Given the description of an element on the screen output the (x, y) to click on. 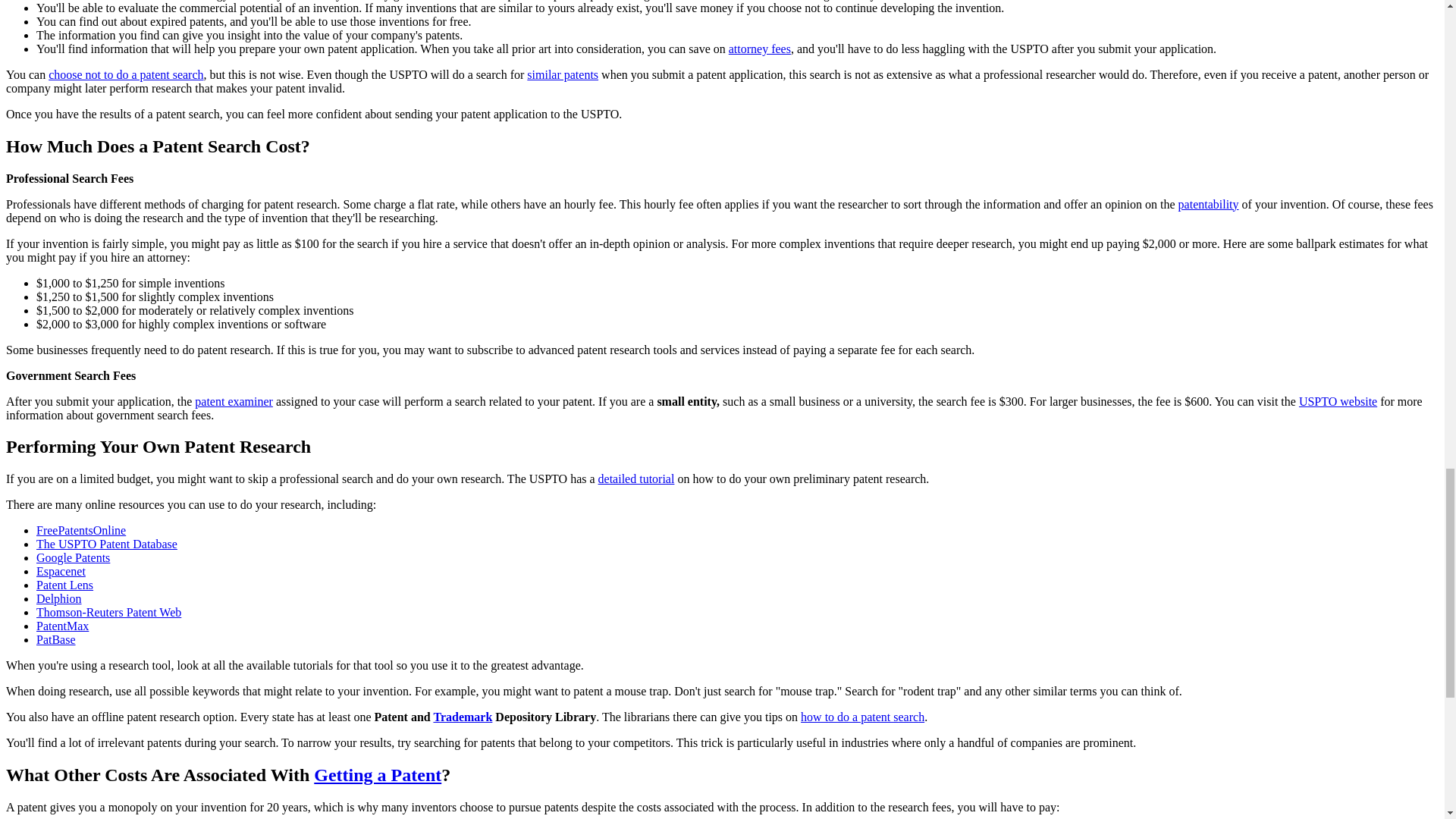
similar patents (562, 74)
attorney fees (759, 48)
choose not to do a patent search (125, 74)
